Given the description of an element on the screen output the (x, y) to click on. 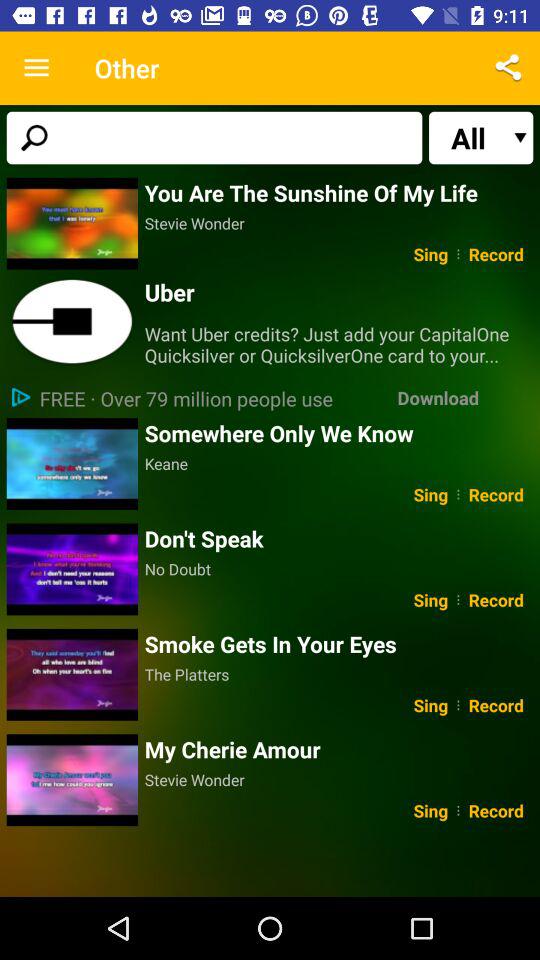
press the icon above free over 79 (342, 344)
